Given the description of an element on the screen output the (x, y) to click on. 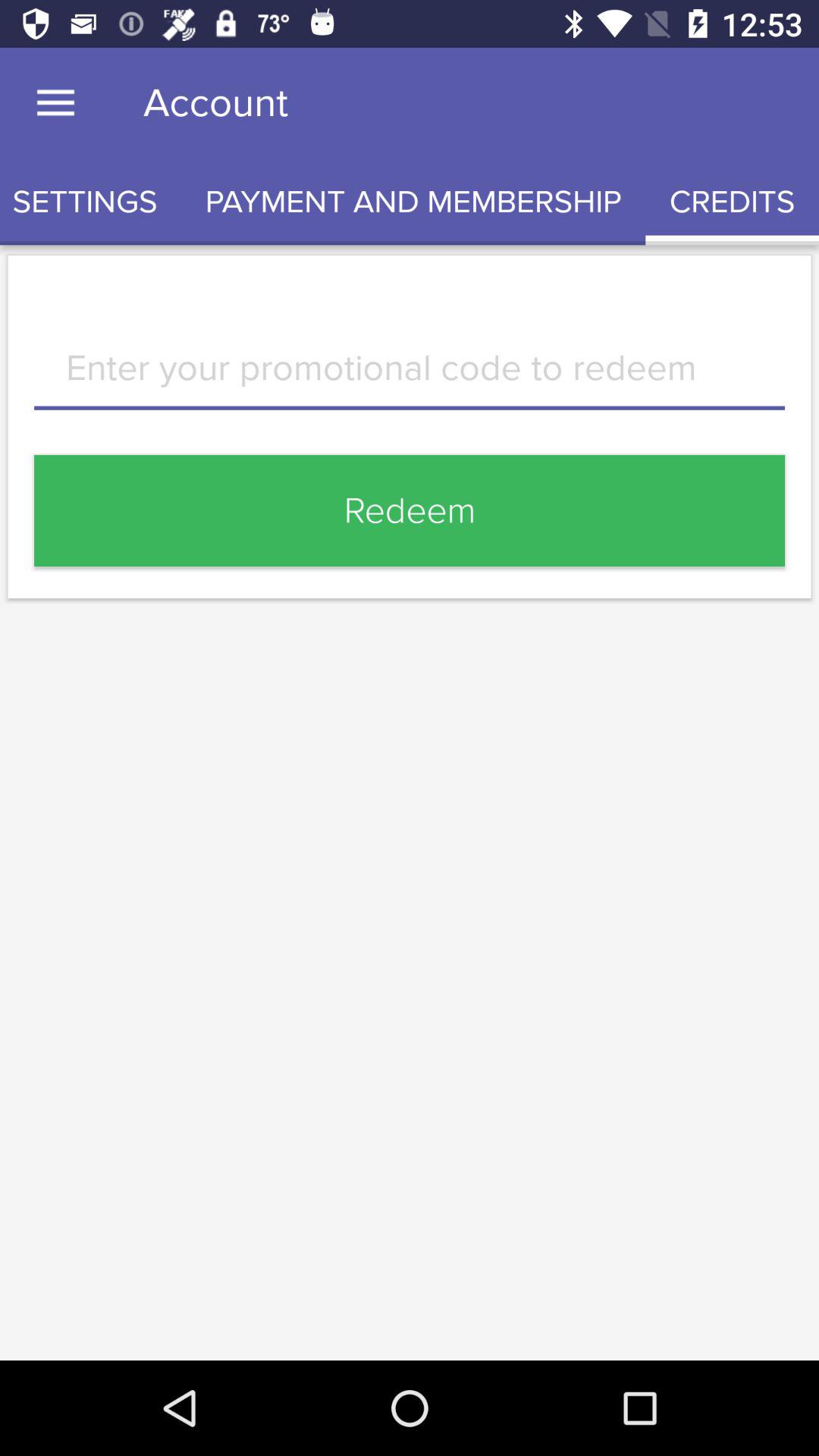
turn off the item next to the credits (413, 202)
